Given the description of an element on the screen output the (x, y) to click on. 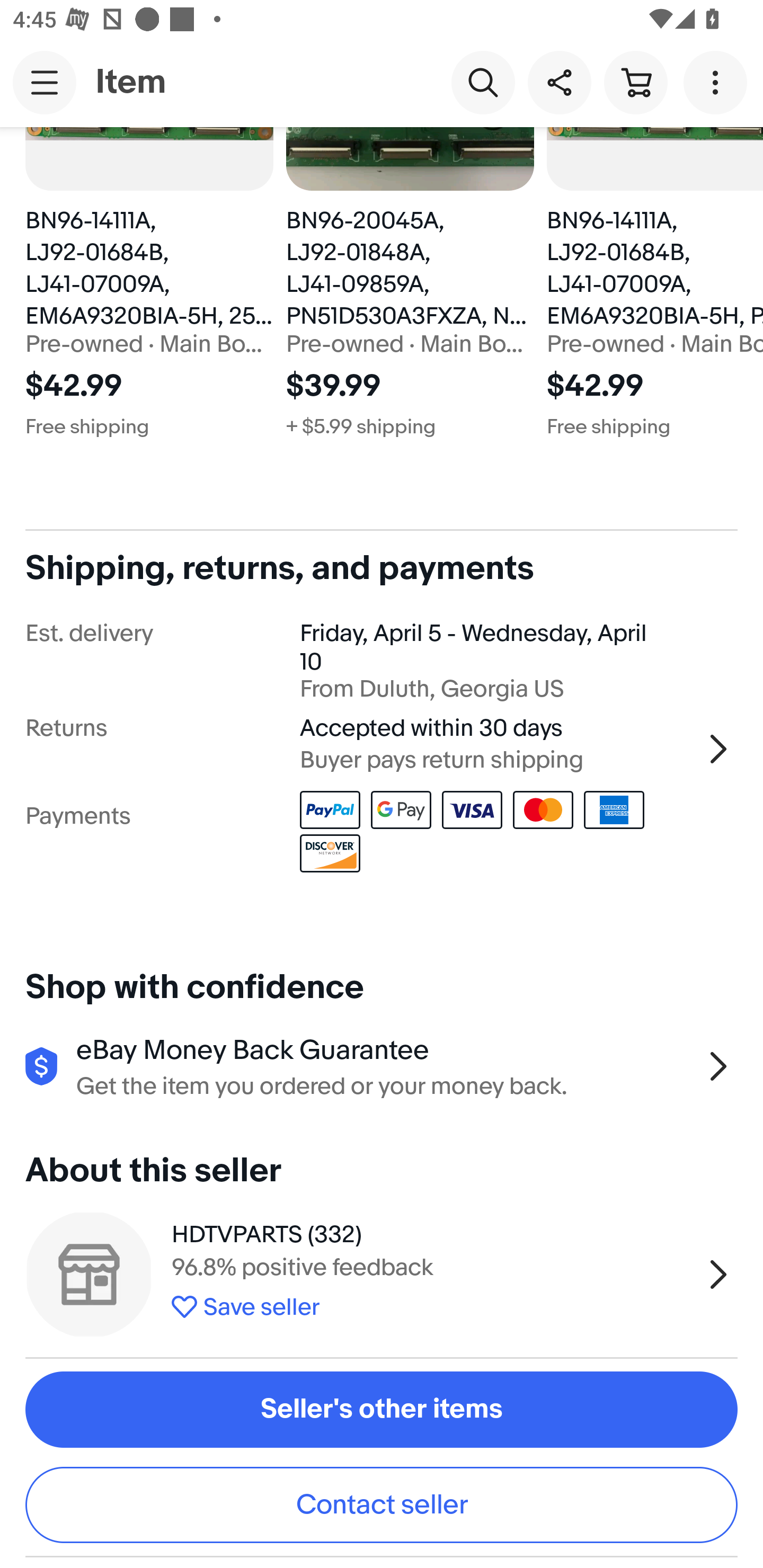
Main navigation, open (44, 82)
Search (482, 81)
Share this item (559, 81)
Cart button shopping cart (635, 81)
More options (718, 81)
Save seller (431, 1304)
Seller's other items (381, 1409)
Contact seller (381, 1504)
